Given the description of an element on the screen output the (x, y) to click on. 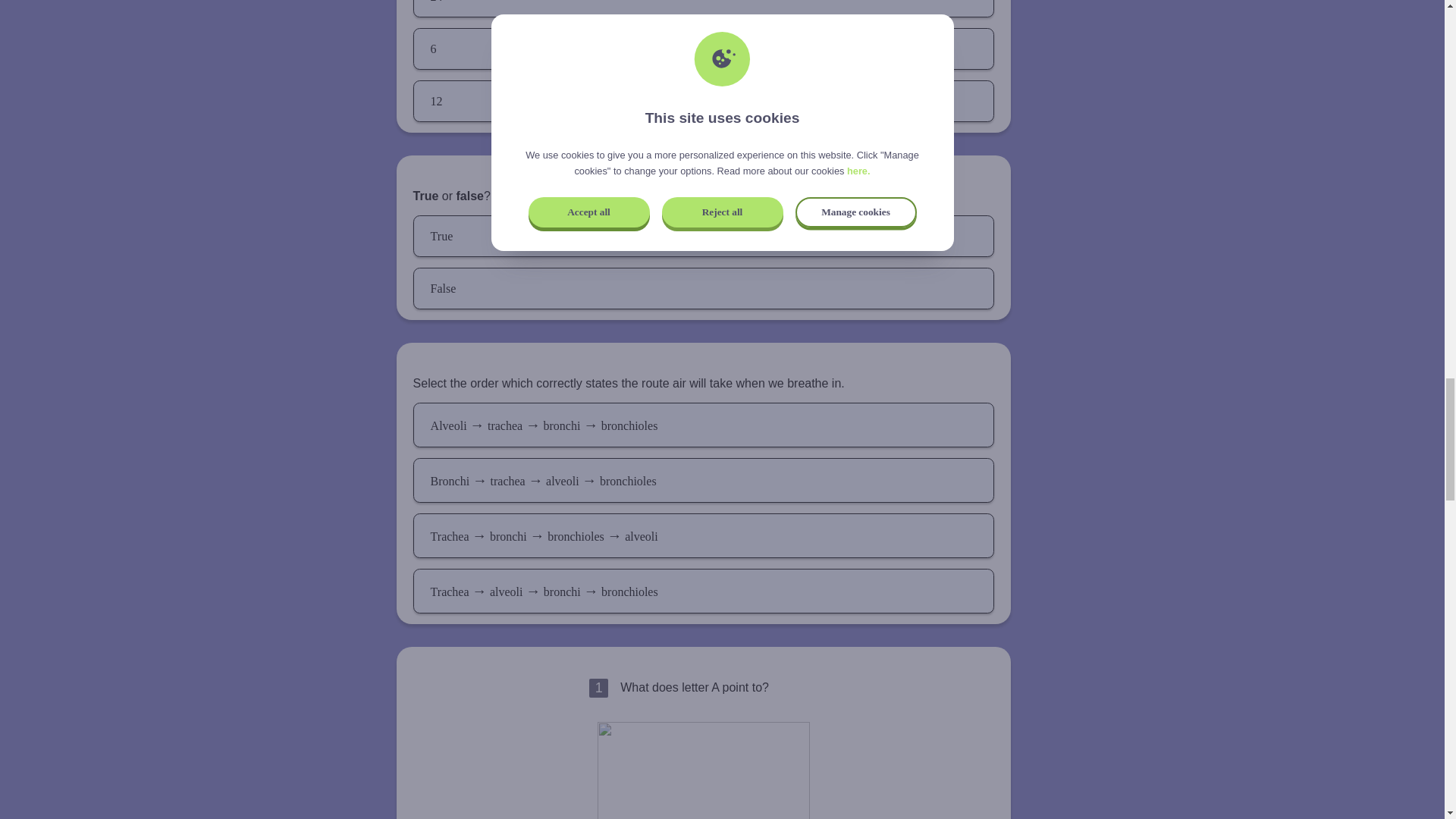
True (703, 236)
24 (703, 8)
12 (703, 101)
6 (703, 48)
False (703, 288)
